Given the description of an element on the screen output the (x, y) to click on. 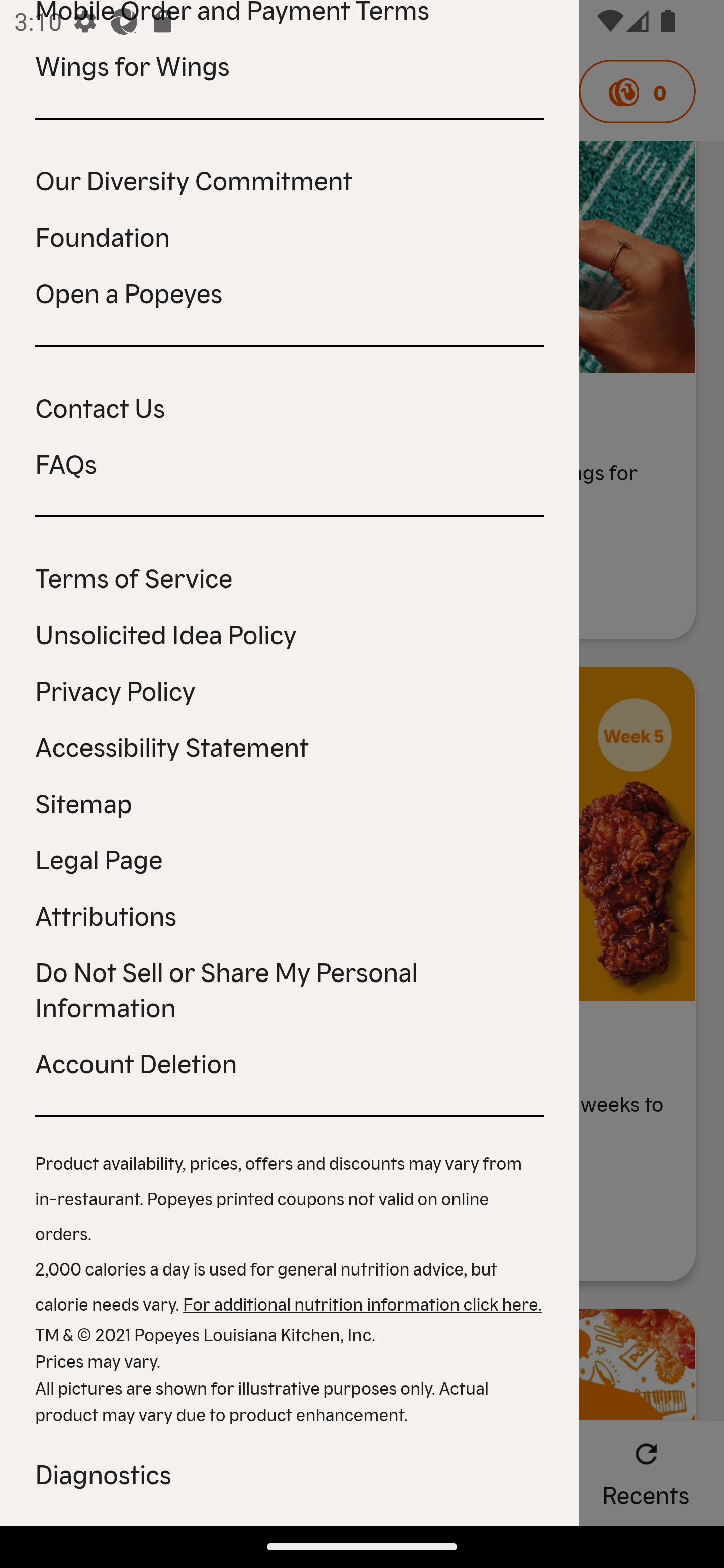
Wings for Wings (289, 65)
Our Diversity Commitment (289, 179)
Foundation (289, 235)
Open a Popeyes (289, 291)
Contact Us (289, 406)
FAQs (289, 462)
Terms of Service (289, 576)
Unsolicited Idea Policy (289, 633)
Privacy Policy (289, 689)
Accessibility Statement (289, 745)
Sitemap (289, 802)
Legal Page (289, 858)
Attributions (289, 914)
Do Not Sell or Share My Personal Information (289, 988)
Account Deletion (289, 1062)
Diagnostics (289, 1473)
